Given the description of an element on the screen output the (x, y) to click on. 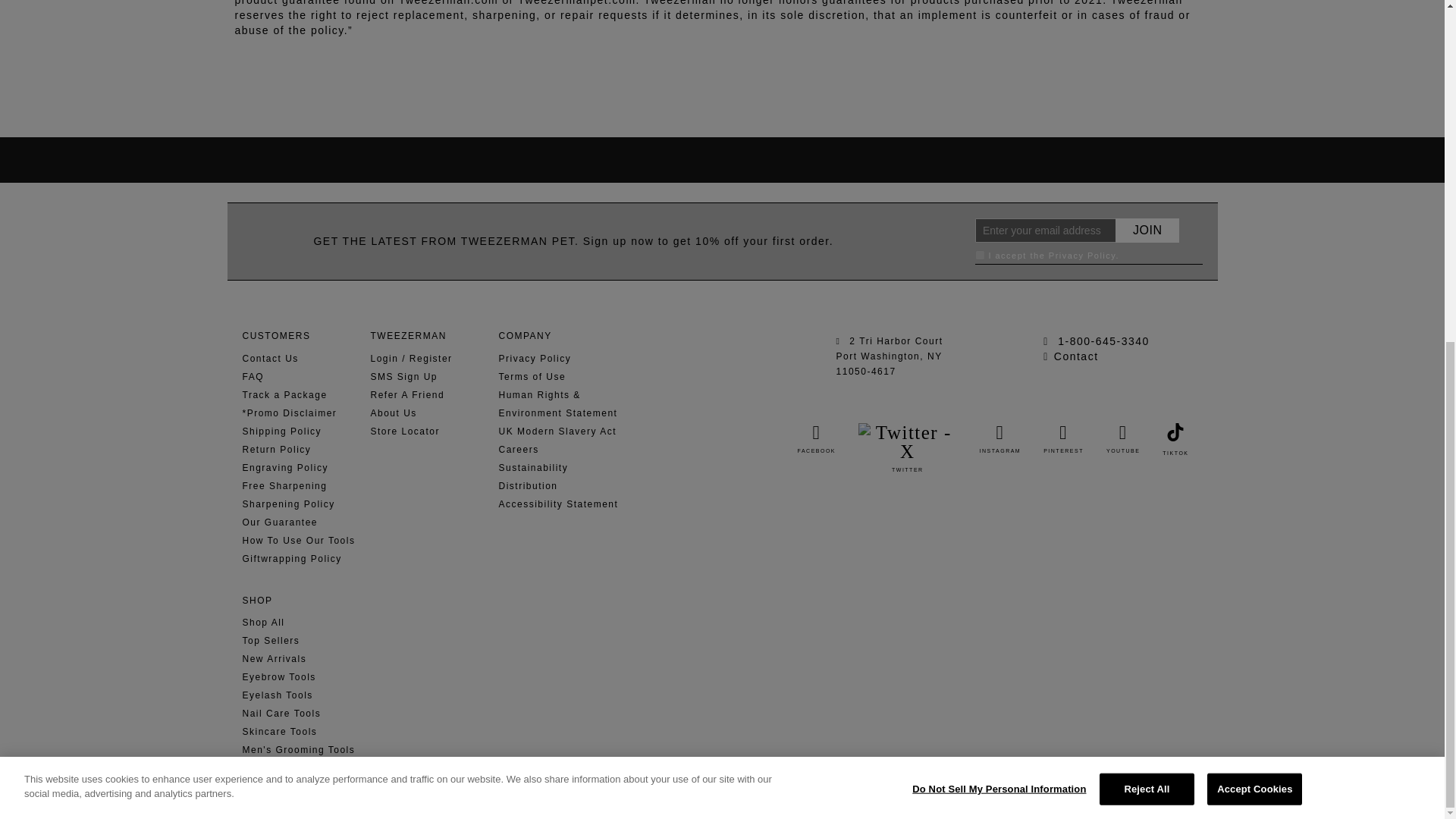
Join (1146, 230)
1 (980, 255)
TikTok (1175, 432)
Newsletter Checkbox (980, 255)
